Given the description of an element on the screen output the (x, y) to click on. 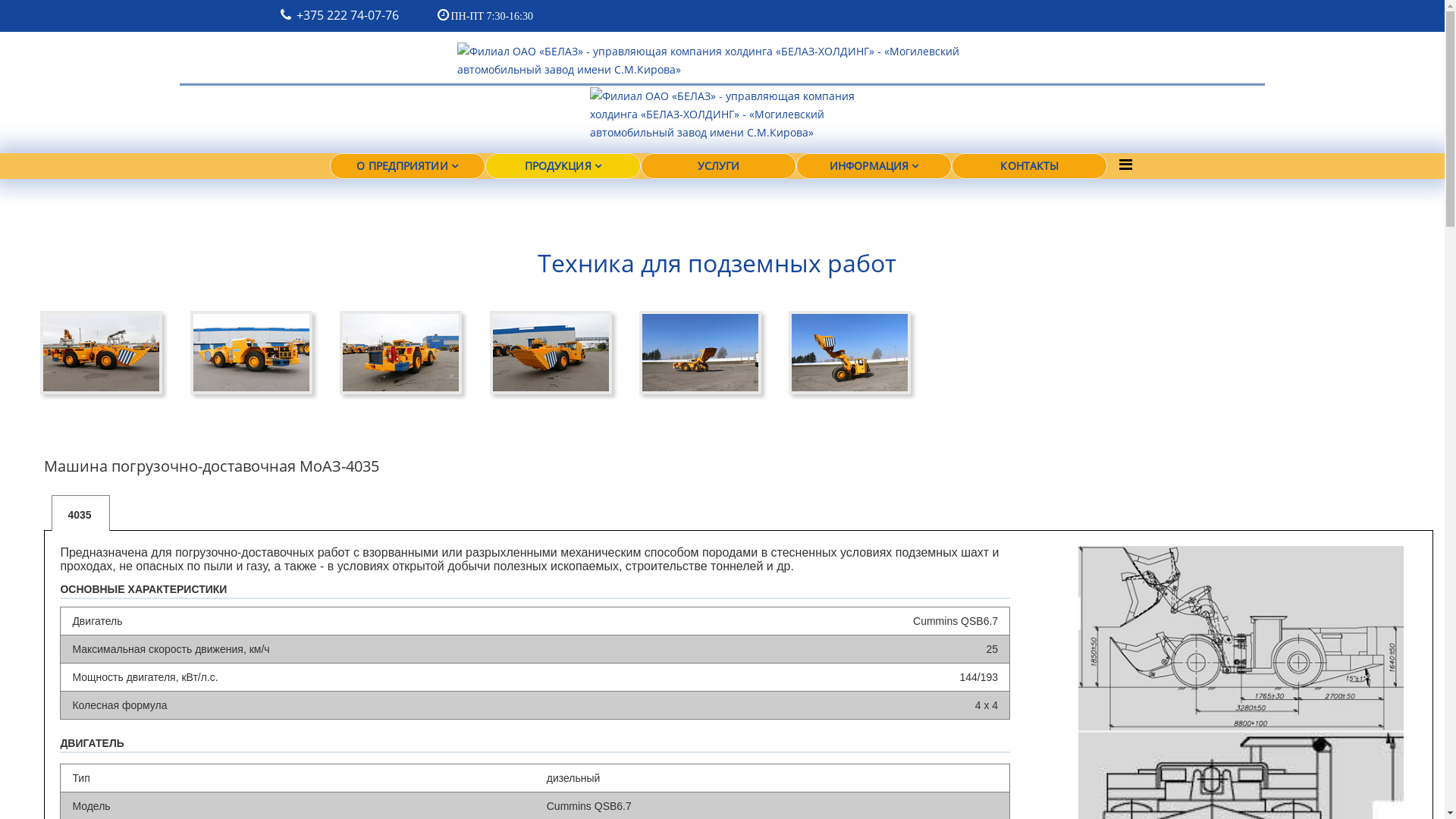
+375 222 74-07-76 Element type: text (346, 14)
Menu Element type: hover (1125, 164)
